Given the description of an element on the screen output the (x, y) to click on. 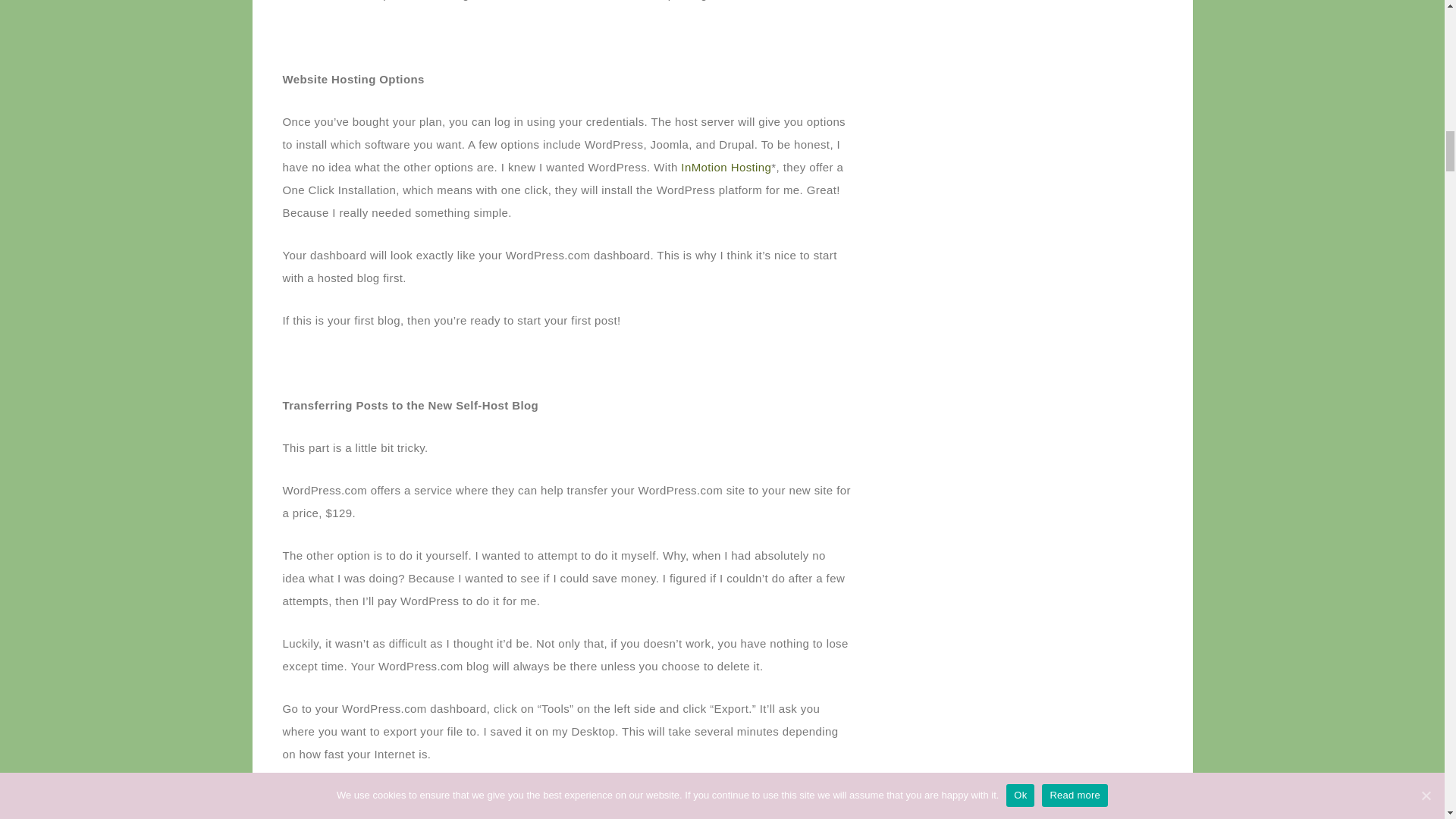
InMotion Hosting (726, 166)
